Given the description of an element on the screen output the (x, y) to click on. 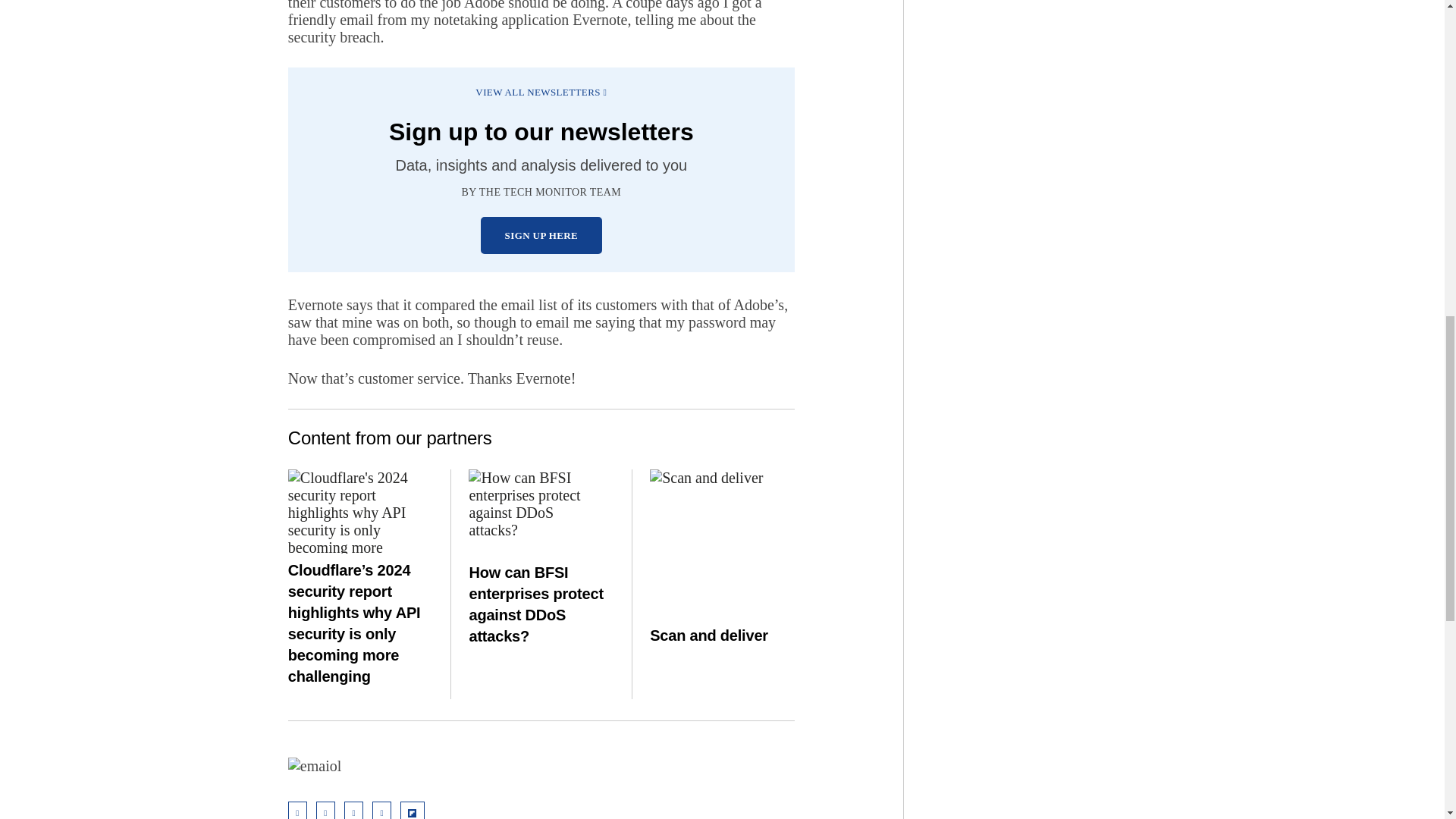
Share on Twitter (352, 810)
Scan and deliver (721, 523)
Share in an email (297, 810)
Share on LinkedIN (324, 810)
Share on Flipboard (412, 810)
Share on facebook (381, 810)
